Given the description of an element on the screen output the (x, y) to click on. 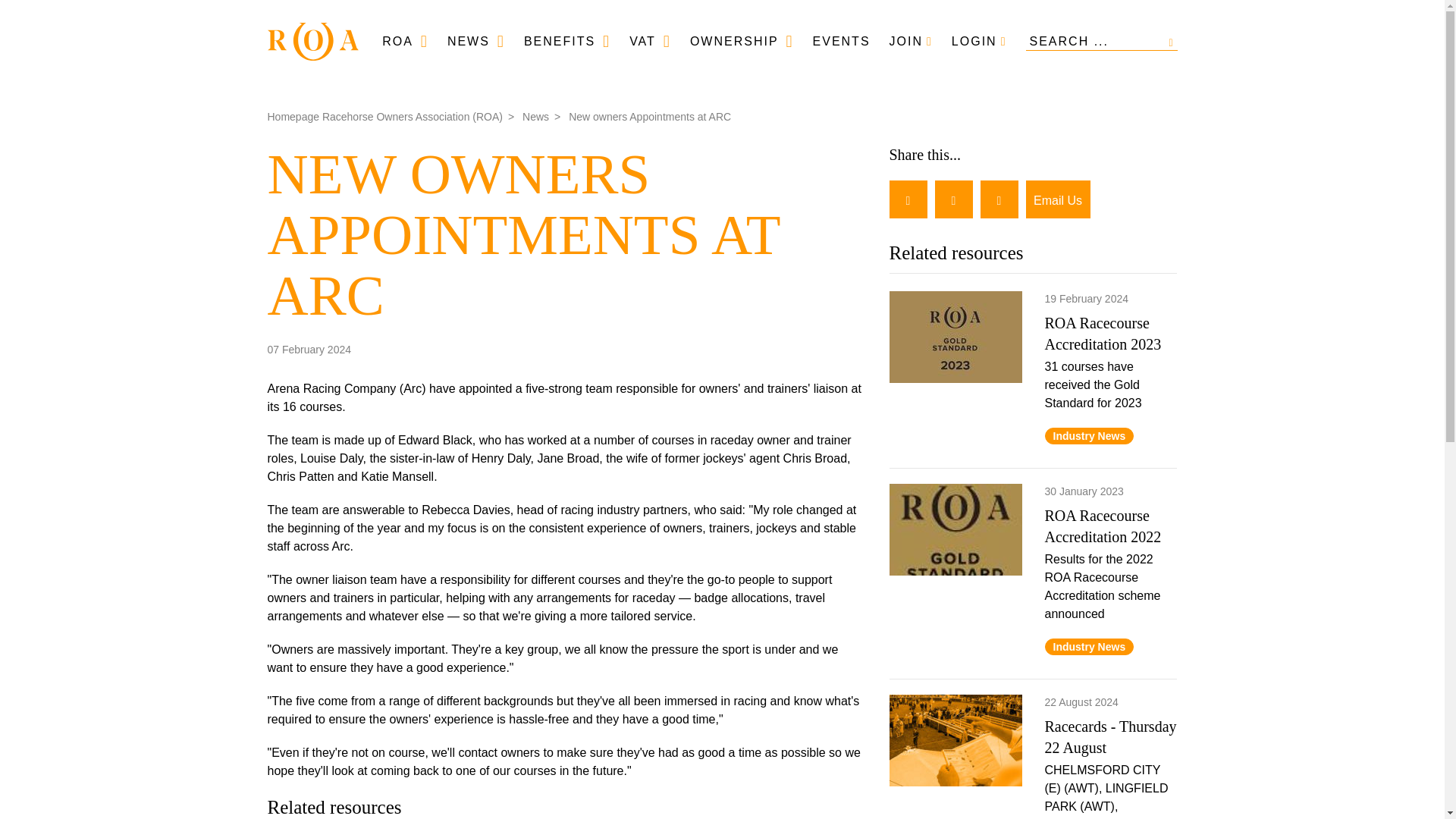
ROA (404, 41)
BENEFITS (567, 41)
NEWS (475, 41)
VAT (649, 41)
